Given the description of an element on the screen output the (x, y) to click on. 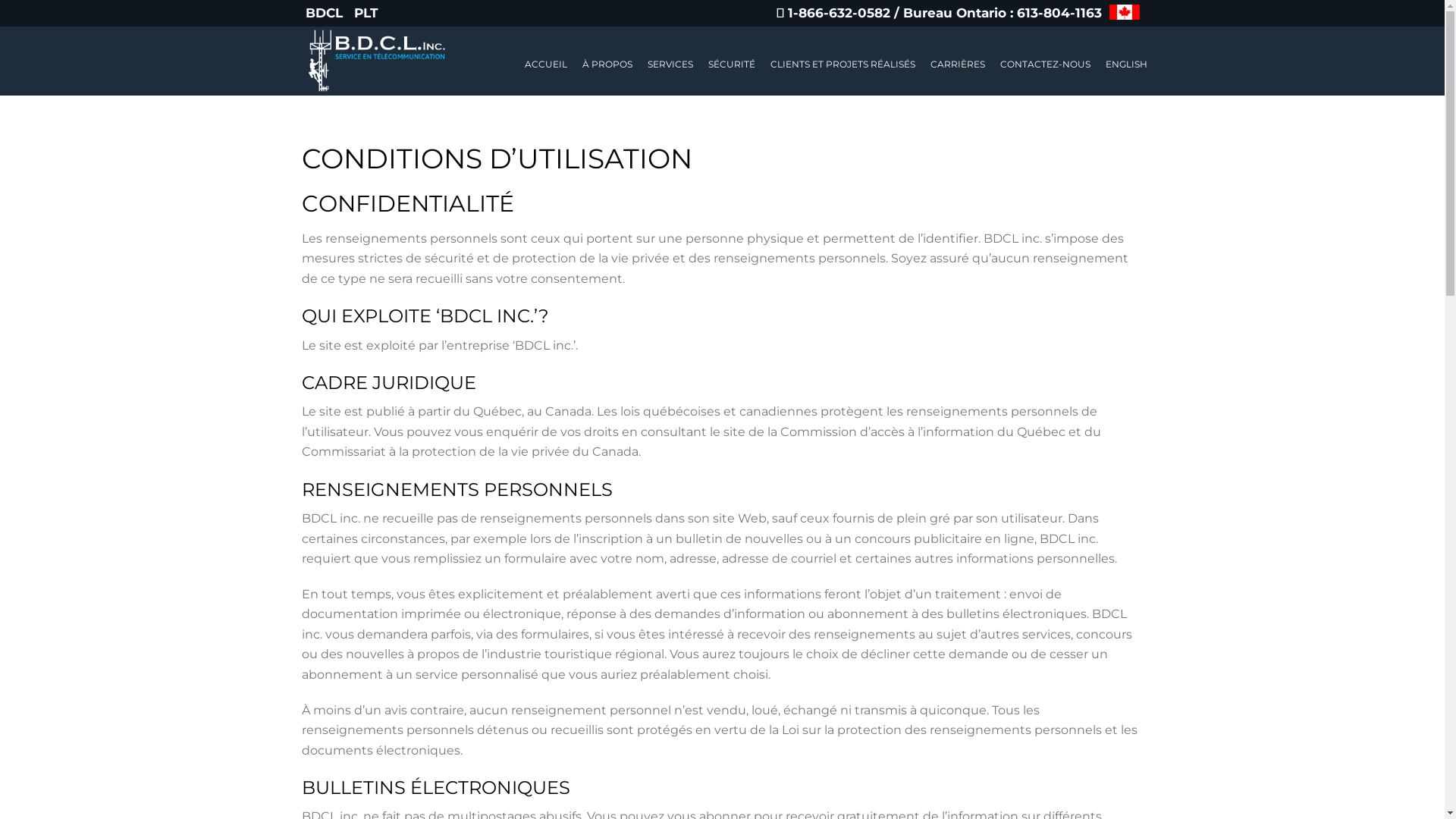
1-866-632-0582 Element type: text (838, 13)
CONTACTEZ-NOUS Element type: text (1044, 60)
PLT Element type: text (365, 13)
SERVICES Element type: text (670, 60)
613-804-1163 Element type: text (1058, 13)
ENGLISH Element type: text (1126, 60)
ACCUEIL Element type: text (545, 60)
BDCL Element type: text (323, 13)
